Given the description of an element on the screen output the (x, y) to click on. 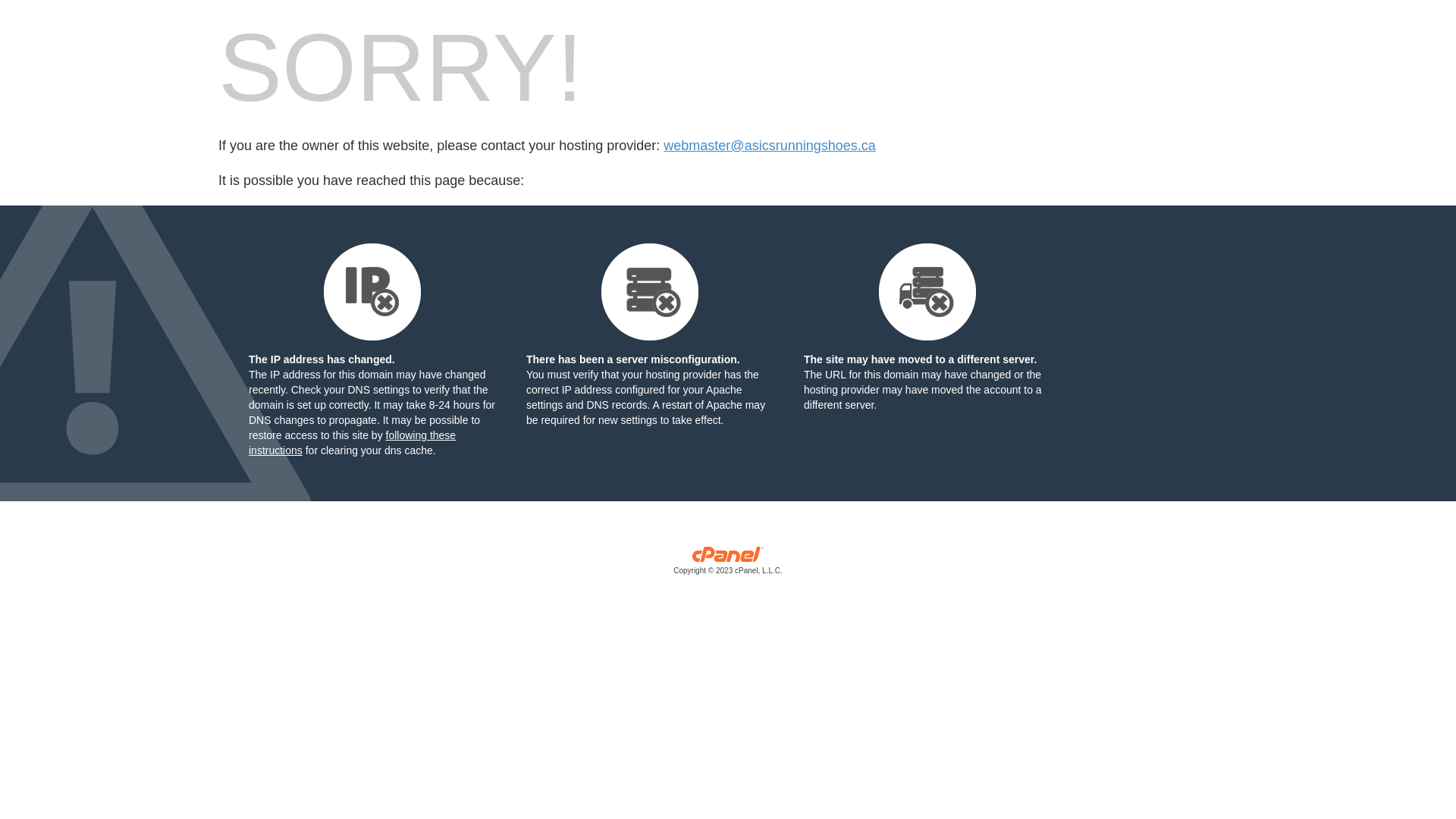
webmaster@asicsrunningshoes.ca Element type: text (769, 145)
following these instructions Element type: text (351, 442)
